Given the description of an element on the screen output the (x, y) to click on. 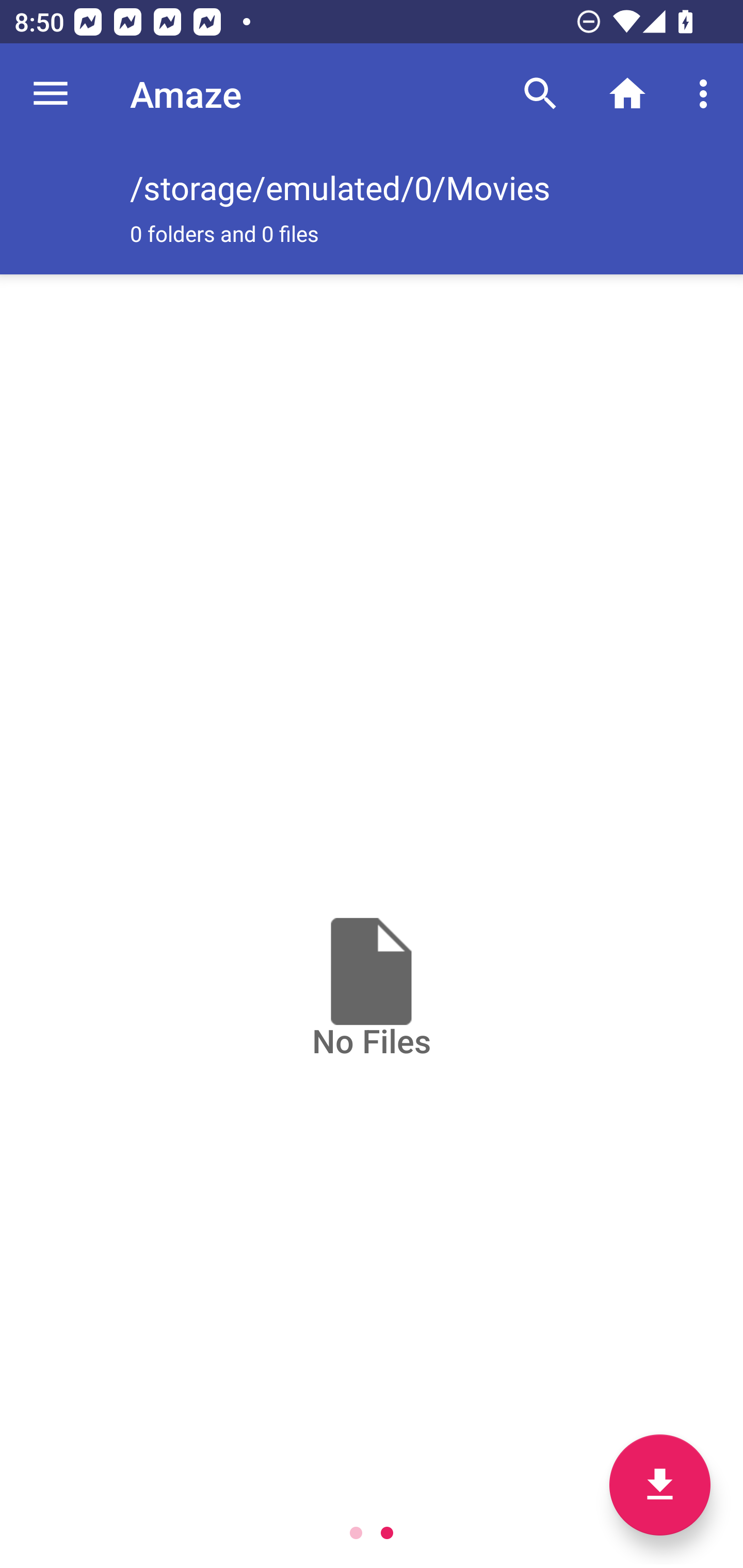
Navigate up (50, 93)
Search (540, 93)
Home (626, 93)
More options (706, 93)
